Given the description of an element on the screen output the (x, y) to click on. 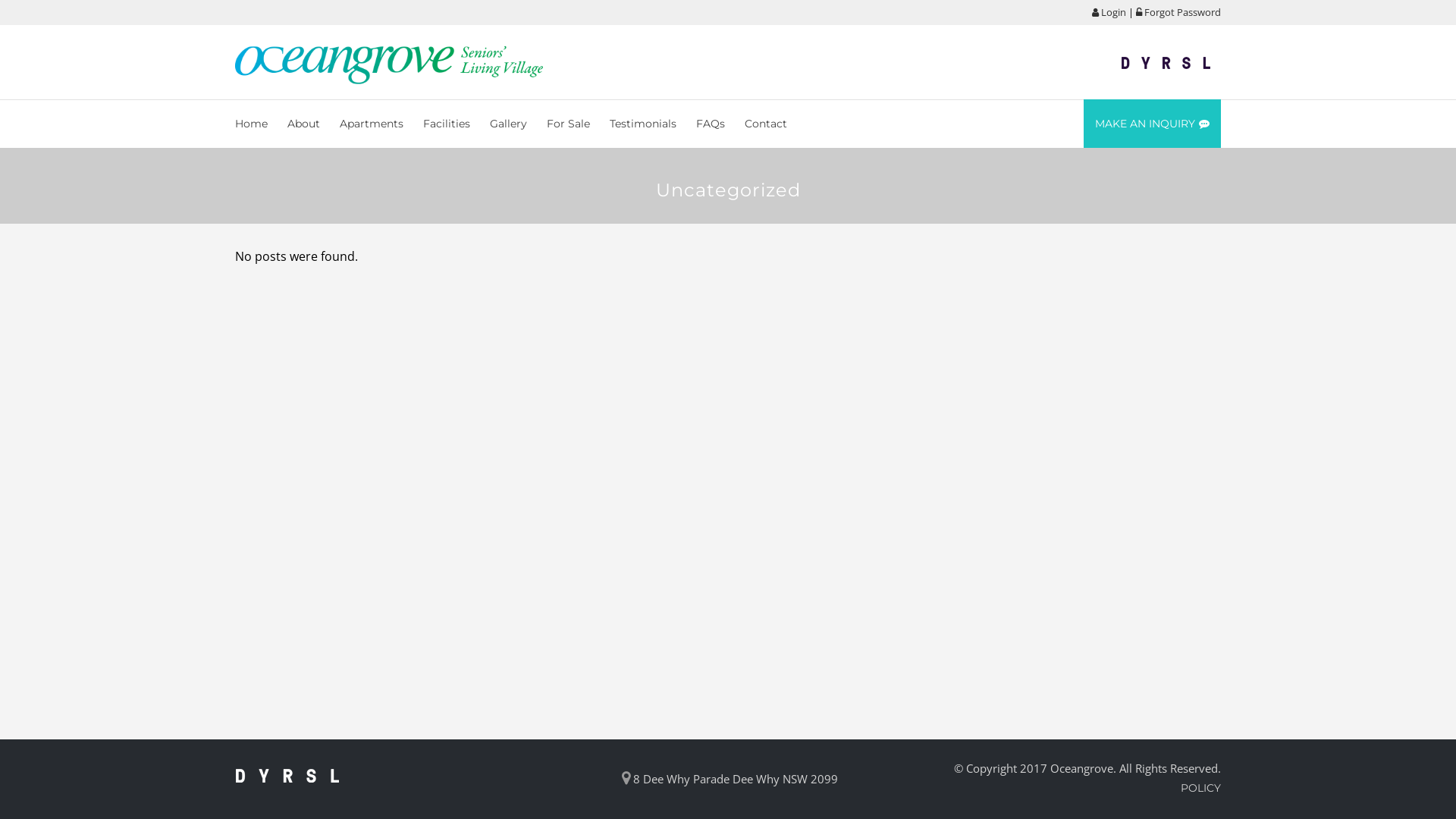
Gallery Element type: text (508, 123)
Forgot Password Element type: text (1177, 11)
MAKE AN INQUIRY Element type: text (1151, 123)
Facilities Element type: text (446, 123)
About Element type: text (303, 123)
Apartments Element type: text (371, 123)
Home Element type: text (256, 123)
Contact Element type: text (765, 123)
FAQs Element type: text (710, 123)
For Sale Element type: text (567, 123)
POLICY Element type: text (1200, 787)
Login Element type: text (1109, 11)
Testimonials Element type: text (642, 123)
